Given the description of an element on the screen output the (x, y) to click on. 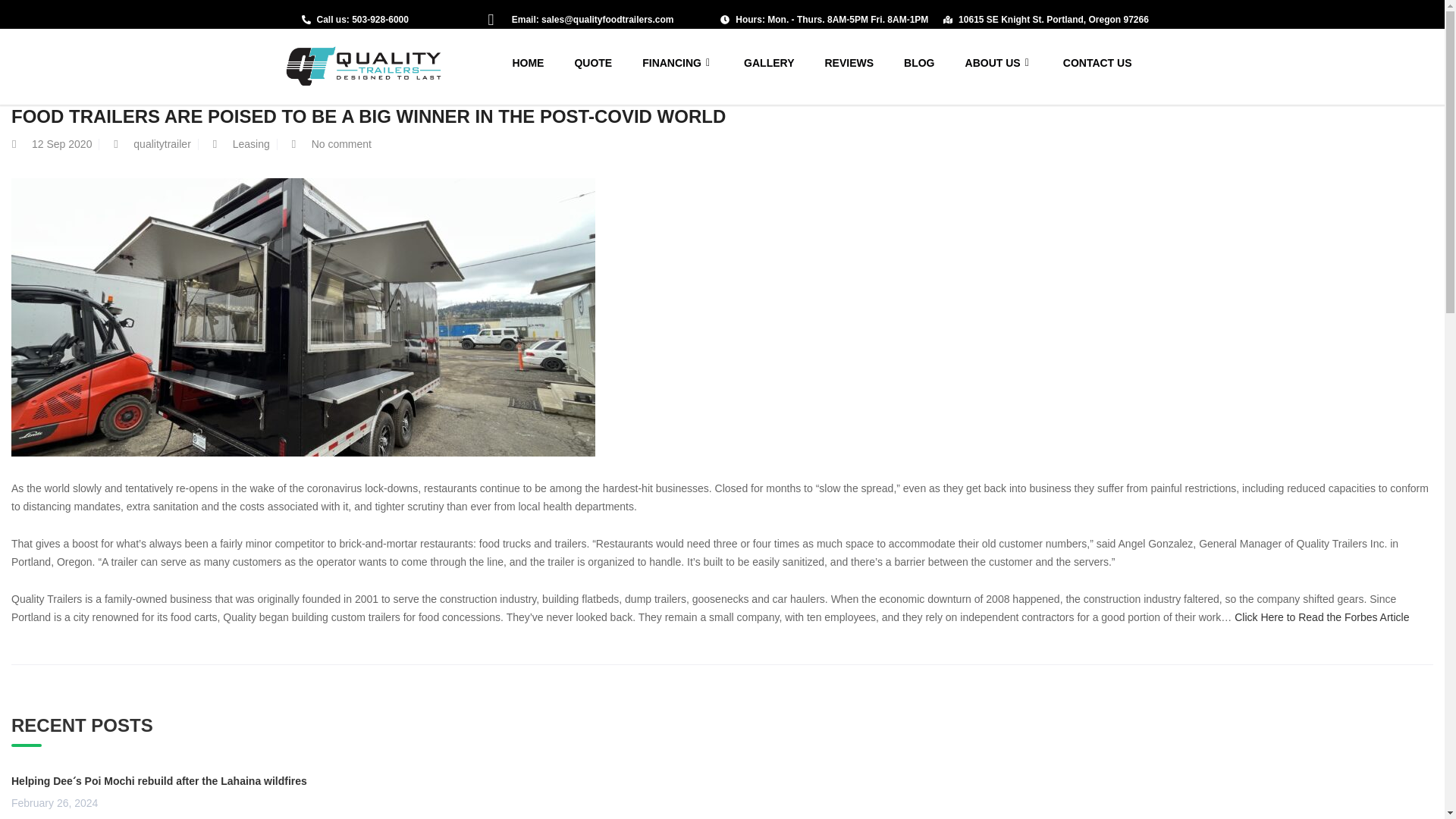
FINANCING (678, 62)
GALLERY (769, 62)
REVIEWS (848, 62)
CONTACT US (1090, 62)
View all posts by qualitytrailer (161, 143)
QUOTE (593, 62)
Call us: 503-928-6000 (363, 19)
BLOG (918, 62)
ABOUT US (999, 62)
HOME (535, 62)
